Given the description of an element on the screen output the (x, y) to click on. 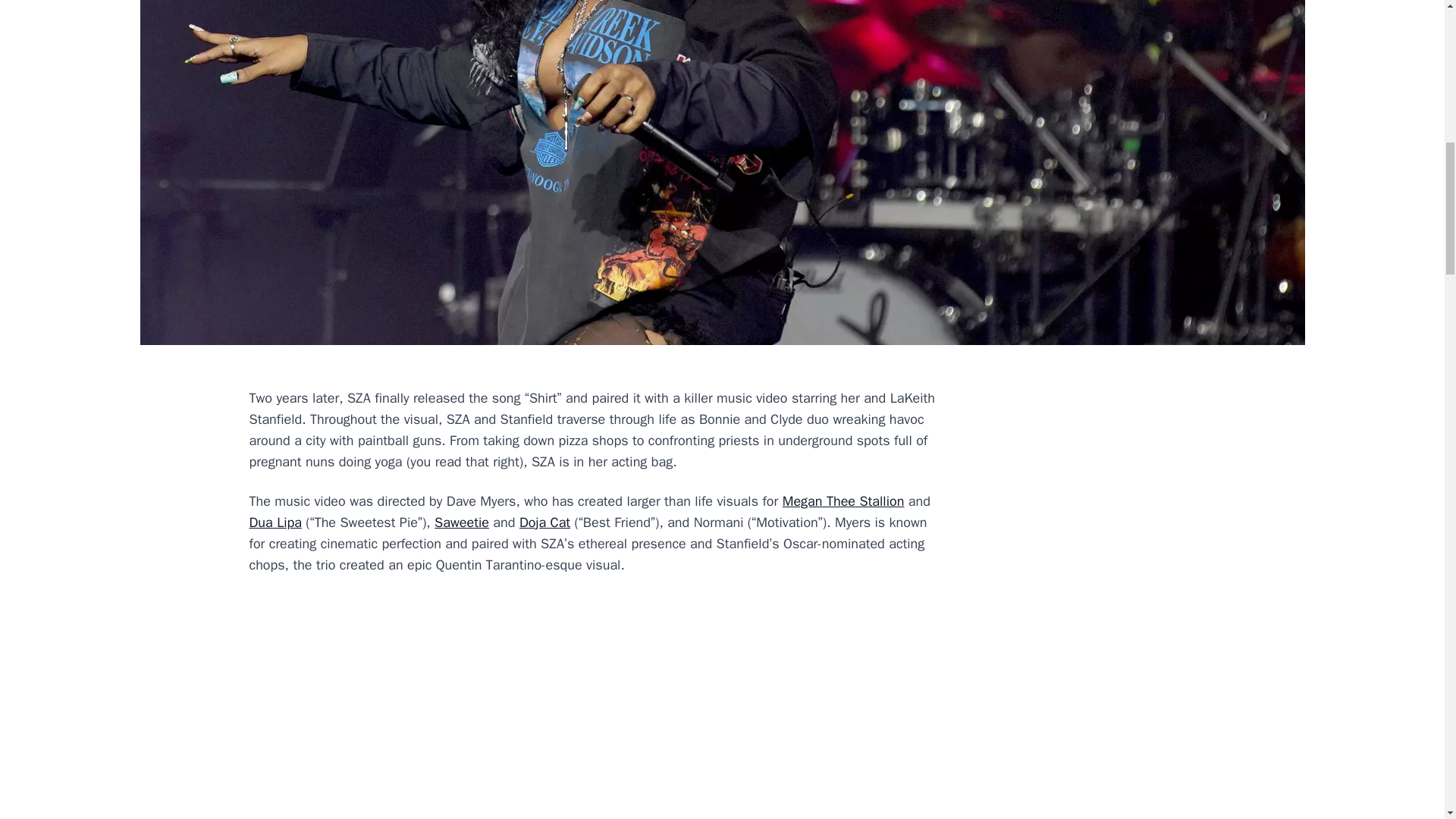
Dua Lipa (274, 522)
Doja Cat (544, 522)
Megan Thee Stallion (843, 501)
Saweetie (461, 522)
